Given the description of an element on the screen output the (x, y) to click on. 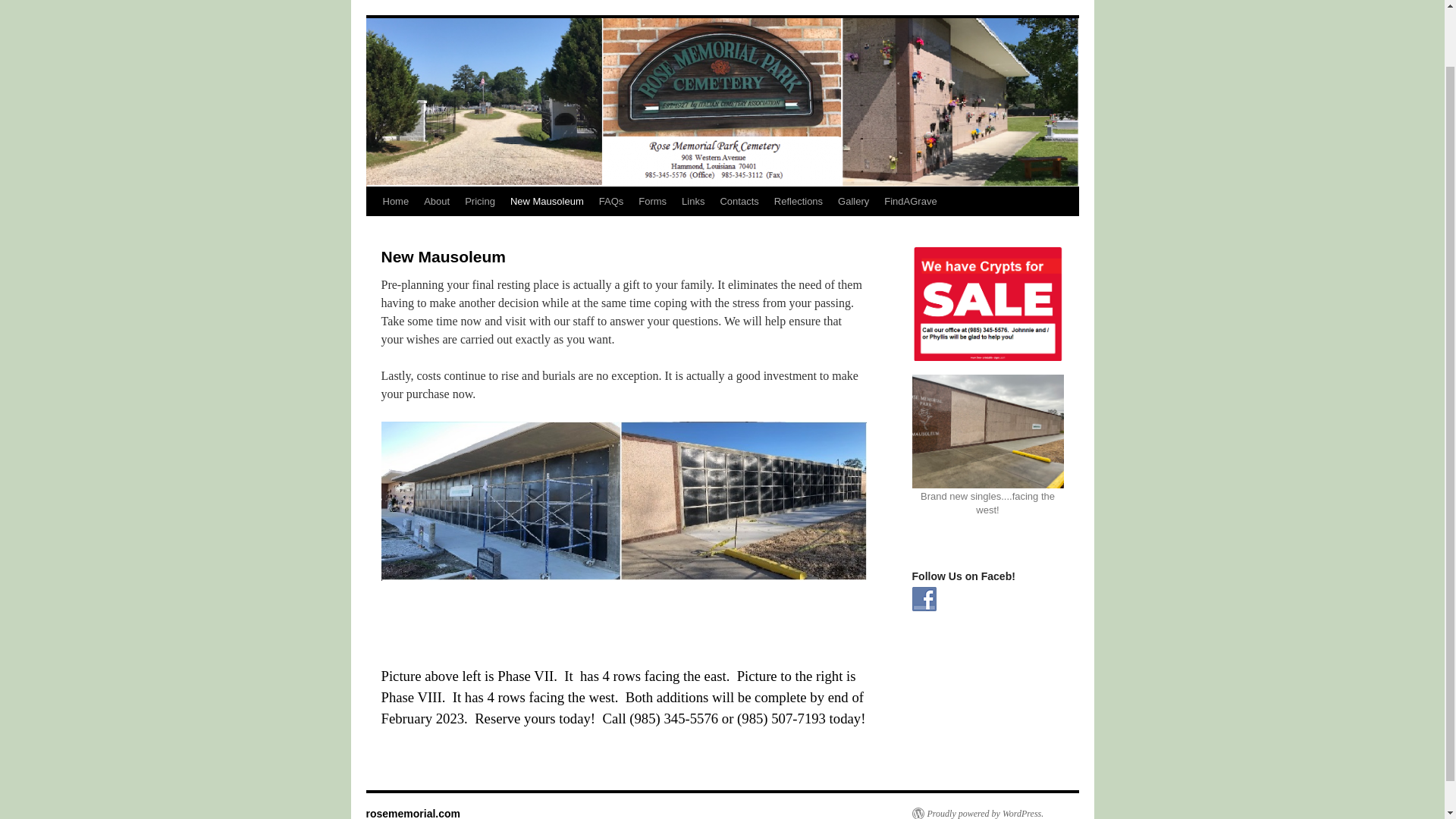
New Mausoleum (546, 201)
Pricing (479, 201)
FAQs (611, 201)
Forms (652, 201)
Contacts (738, 201)
About (436, 201)
Follow Us on Facebook (923, 598)
Home (395, 201)
Links (692, 201)
FindAGrave (909, 201)
Reflections (798, 201)
Gallery (852, 201)
